Given the description of an element on the screen output the (x, y) to click on. 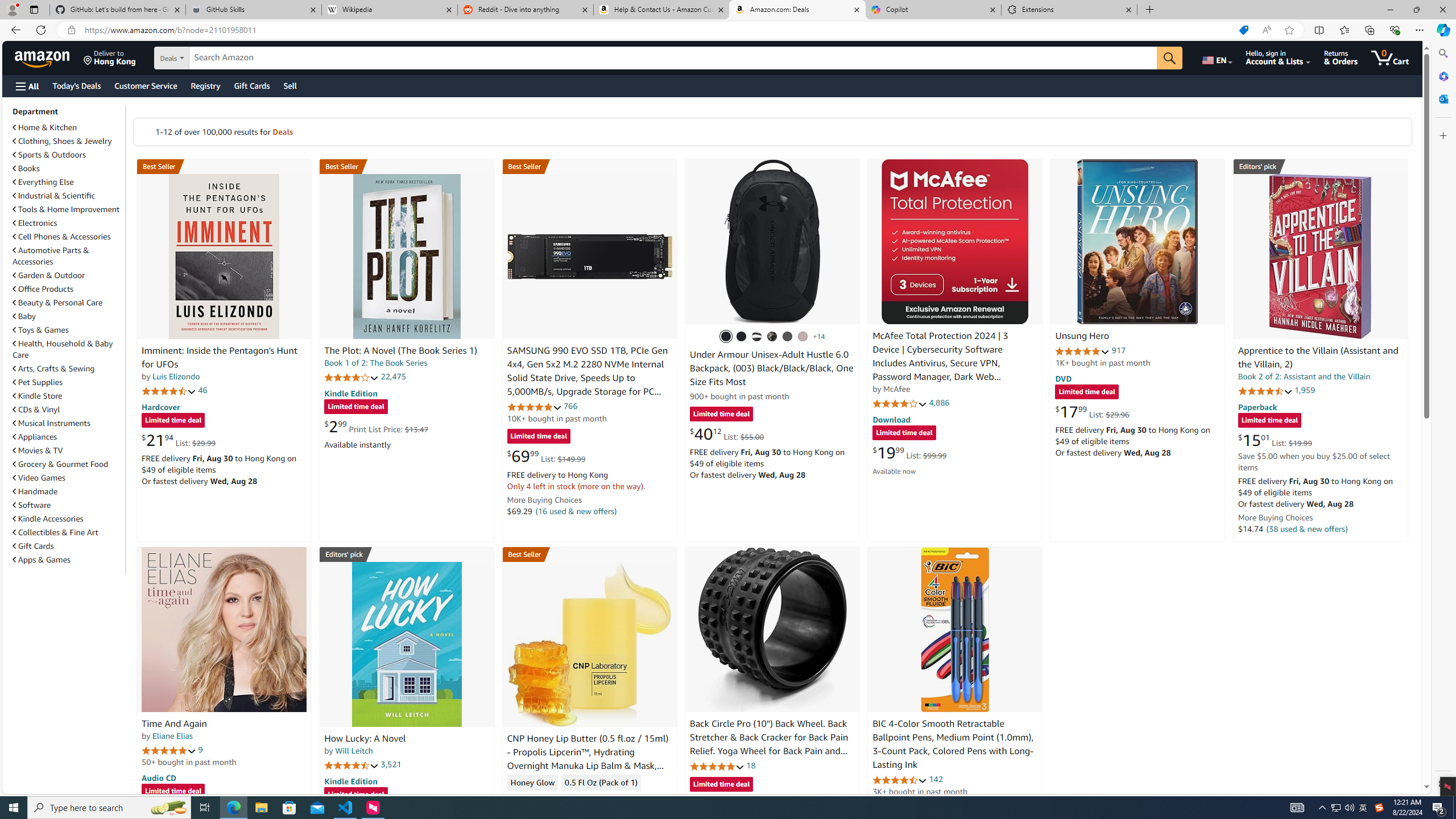
Cell Phones & Accessories (67, 236)
Kindle Edition (350, 780)
Cell Phones & Accessories (61, 236)
Toys & Games (67, 329)
Limited time deal (721, 784)
4.6 out of 5 stars (899, 779)
Copilot (933, 9)
Book 2 of 2: Assistant and the Villain (1303, 376)
Open Menu (26, 86)
Appliances (67, 436)
Electronics (34, 222)
Electronics (67, 222)
